Given the description of an element on the screen output the (x, y) to click on. 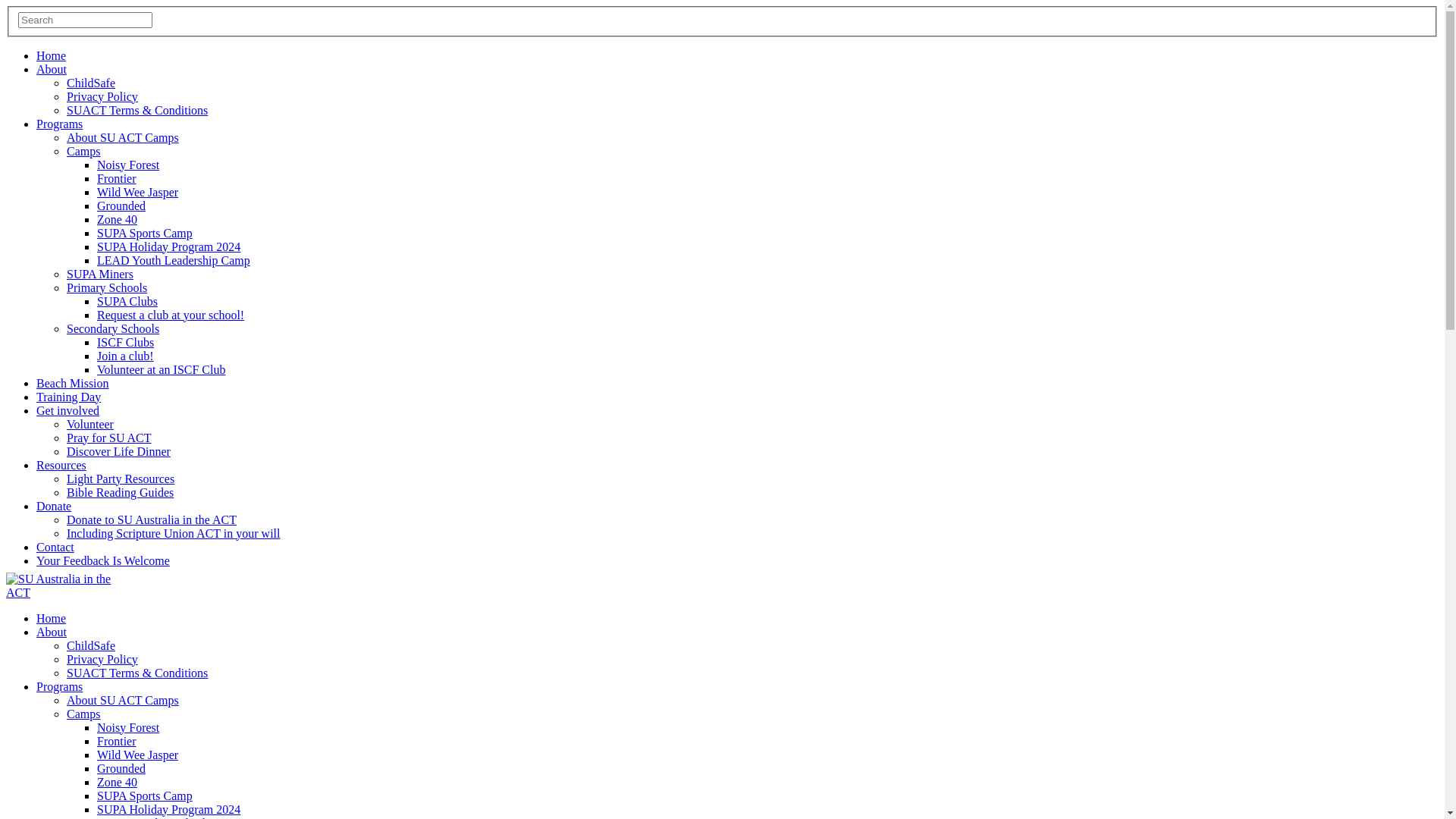
SU Australia in the ACT Element type: hover (59, 585)
About SU ACT Camps Element type: text (122, 137)
Discover Life Dinner Element type: text (118, 451)
Primary Schools Element type: text (106, 287)
Grounded Element type: text (121, 205)
SUPA Clubs Element type: text (127, 300)
SUPA Sports Camp Element type: text (144, 795)
Privacy Policy Element type: text (102, 96)
Get involved Element type: text (67, 410)
SUPA Holiday Program 2024 Element type: text (168, 809)
Home Element type: text (50, 55)
Resources Element type: text (61, 464)
Home Element type: text (50, 617)
Training Day Element type: text (68, 396)
ISCF Clubs Element type: text (125, 341)
Including Scripture Union ACT in your will Element type: text (172, 533)
About Element type: text (51, 68)
Camps Element type: text (83, 713)
Secondary Schools Element type: text (112, 328)
Donate to SU Australia in the ACT Element type: text (151, 519)
Noisy Forest Element type: text (128, 727)
ChildSafe Element type: text (90, 645)
Join a club! Element type: text (125, 355)
Contact Element type: text (55, 546)
Your Feedback Is Welcome Element type: text (102, 560)
SUPA Sports Camp Element type: text (144, 232)
SUPA Miners Element type: text (99, 273)
Bible Reading Guides Element type: text (119, 492)
Zone 40 Element type: text (117, 781)
LEAD Youth Leadership Camp Element type: text (173, 260)
Donate Element type: text (53, 505)
Grounded Element type: text (121, 768)
SUPA Holiday Program 2024 Element type: text (168, 246)
Light Party Resources Element type: text (120, 478)
Volunteer Element type: text (89, 423)
Frontier Element type: text (116, 740)
Camps Element type: text (83, 150)
Noisy Forest Element type: text (128, 164)
Volunteer at an ISCF Club Element type: text (161, 369)
SUACT Terms & Conditions Element type: text (136, 672)
About SU ACT Camps Element type: text (122, 699)
Privacy Policy Element type: text (102, 658)
Request a club at your school! Element type: text (170, 314)
Wild Wee Jasper Element type: text (137, 754)
Programs Element type: text (59, 123)
Beach Mission Element type: text (72, 382)
Zone 40 Element type: text (117, 219)
Wild Wee Jasper Element type: text (137, 191)
Programs Element type: text (59, 686)
SUACT Terms & Conditions Element type: text (136, 109)
About Element type: text (51, 631)
ChildSafe Element type: text (90, 82)
Pray for SU ACT Element type: text (108, 437)
Frontier Element type: text (116, 178)
